Given the description of an element on the screen output the (x, y) to click on. 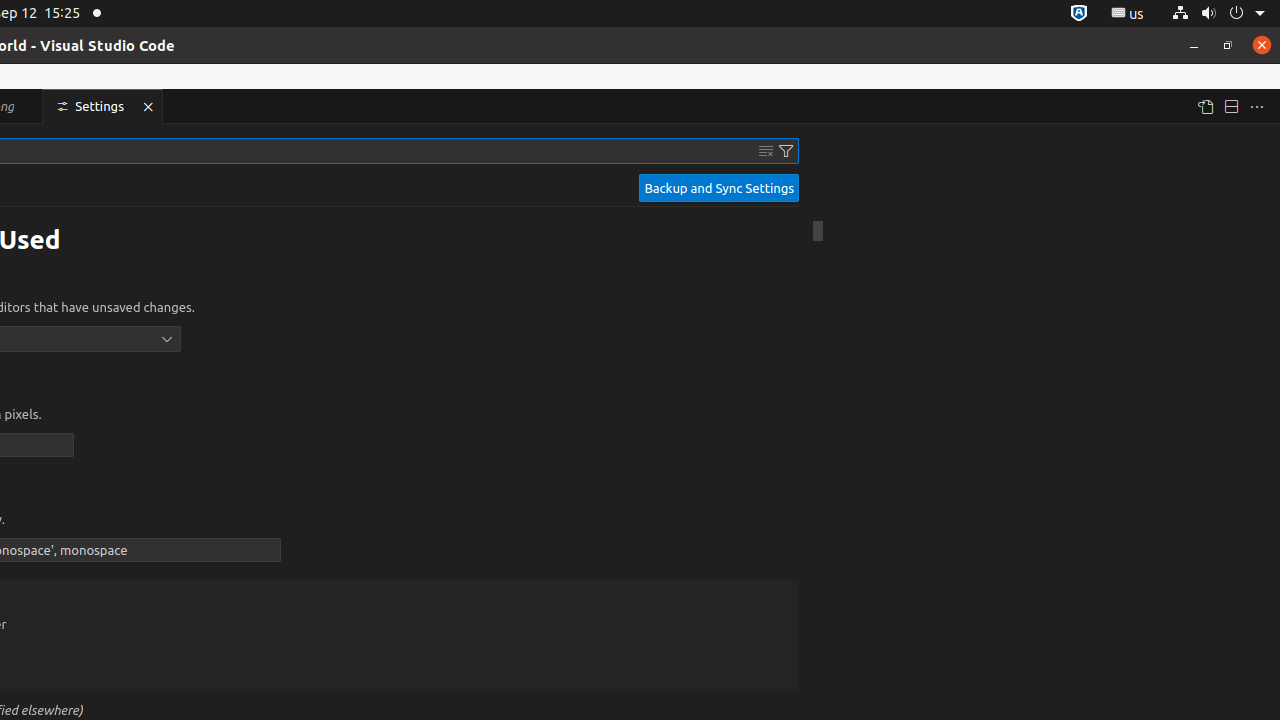
More Actions... Element type: push-button (1257, 106)
Open Settings (JSON) Element type: push-button (1205, 106)
